Given the description of an element on the screen output the (x, y) to click on. 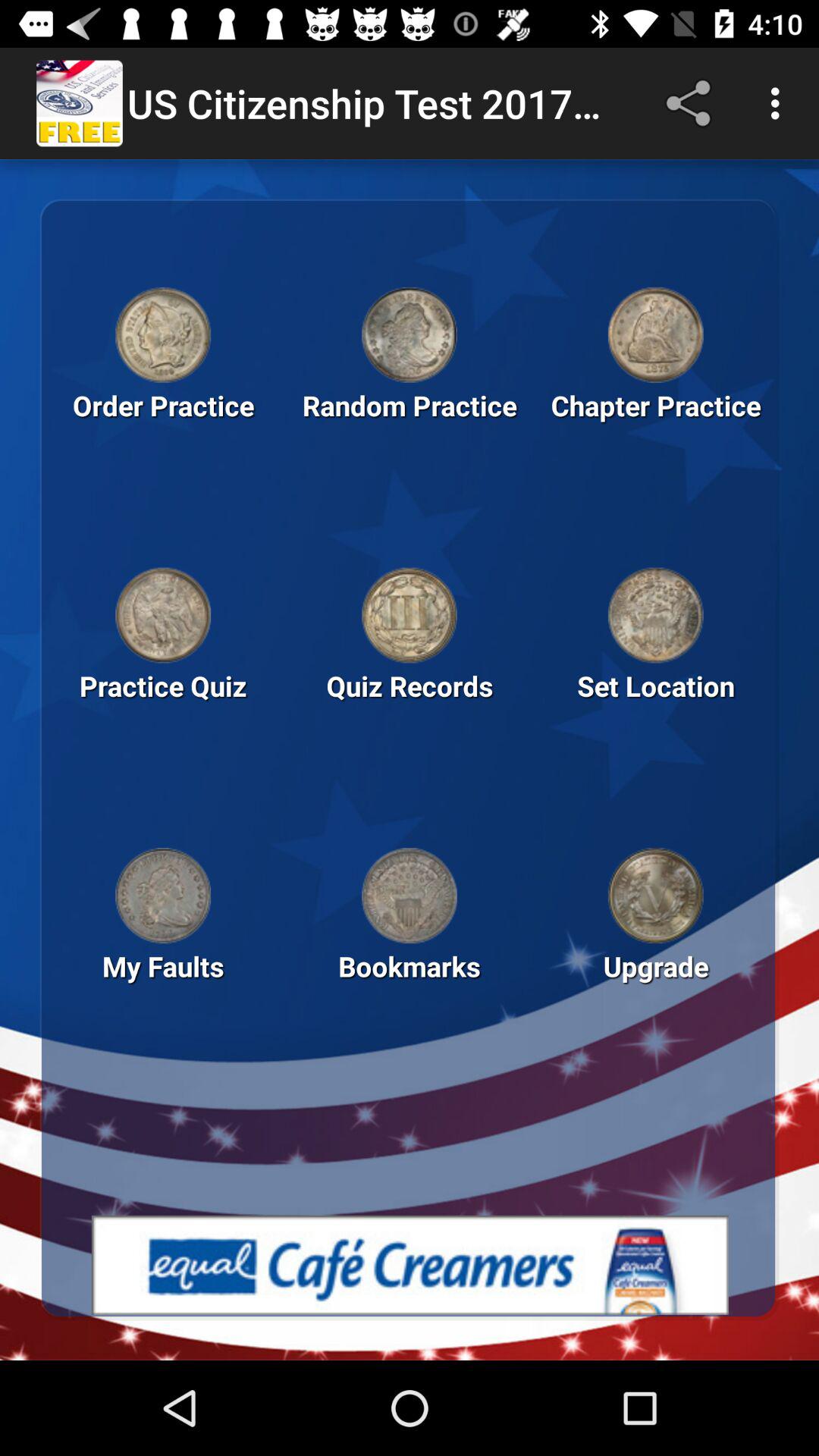
open advertisement (409, 1264)
